Given the description of an element on the screen output the (x, y) to click on. 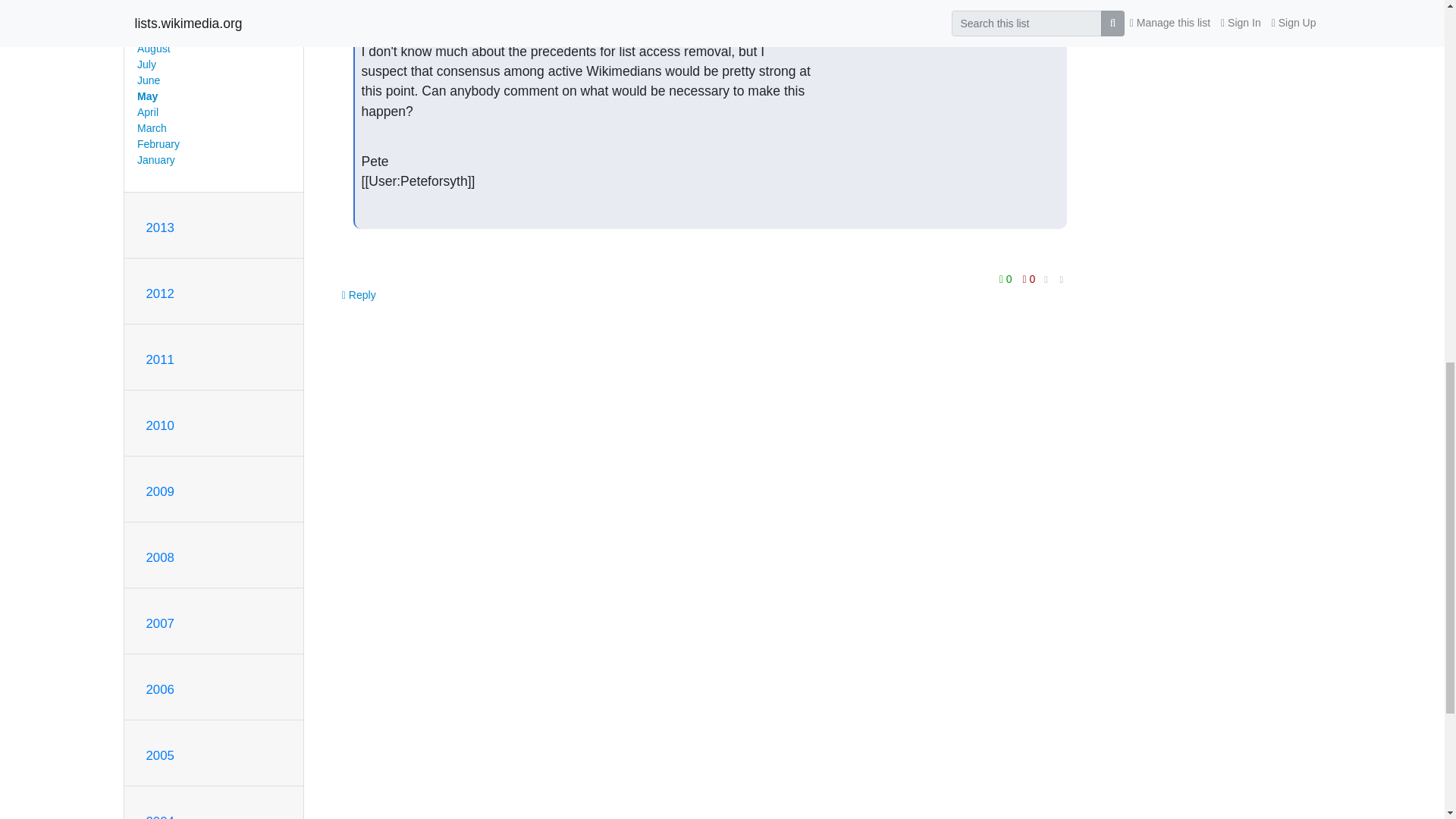
You must be logged-in to vote. (1029, 279)
You must be logged-in to vote. (1007, 279)
Sign in to reply online (359, 294)
